Given the description of an element on the screen output the (x, y) to click on. 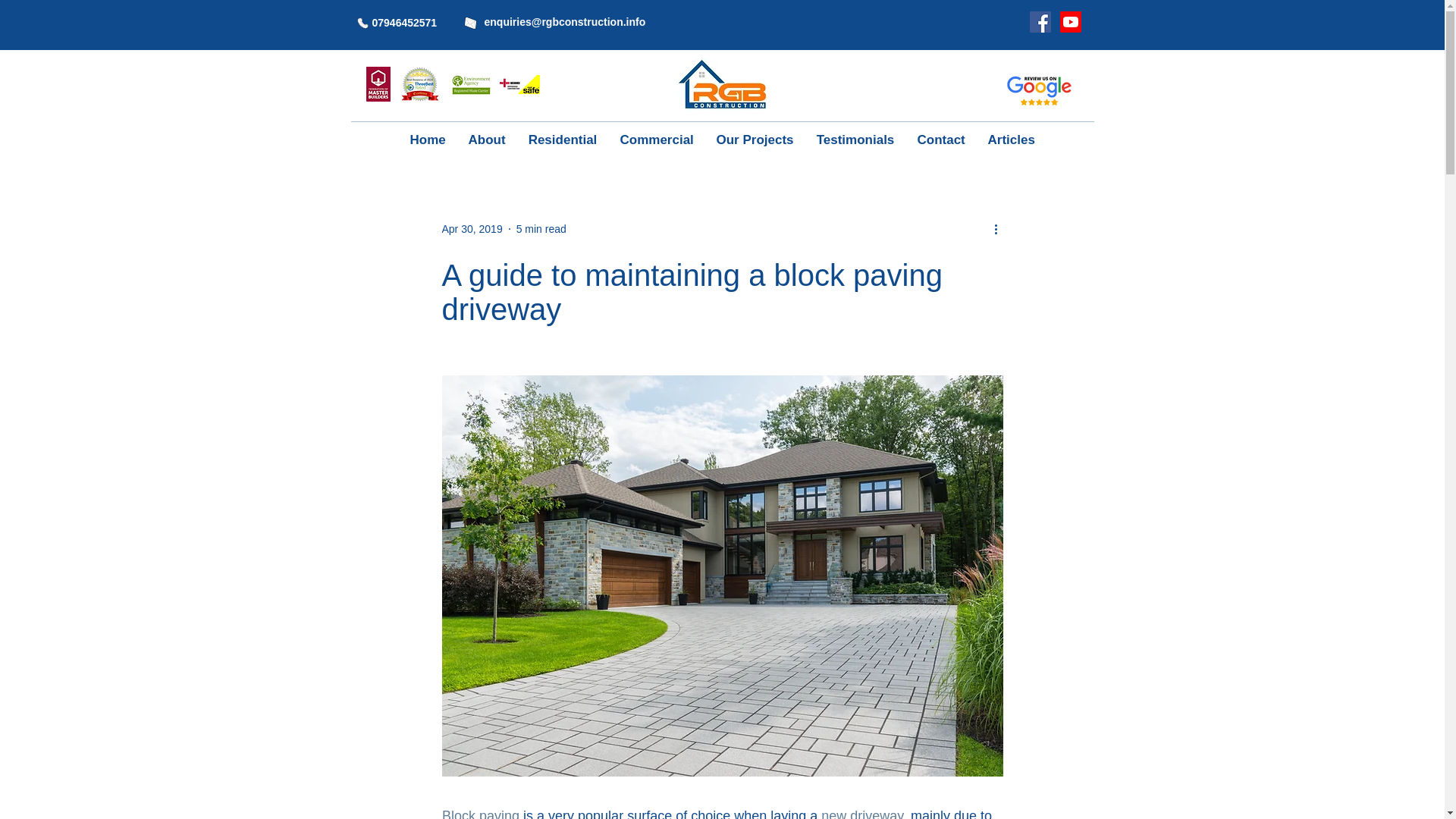
Commercial (656, 139)
new driveway (861, 813)
5 min read (541, 228)
RGB Construction - Local builders in Cardiff and South Wales (721, 83)
Our Projects (754, 139)
Block paving (479, 813)
About (486, 139)
Home (427, 139)
Three Best Rated (469, 85)
Three Best Rated (518, 85)
